Given the description of an element on the screen output the (x, y) to click on. 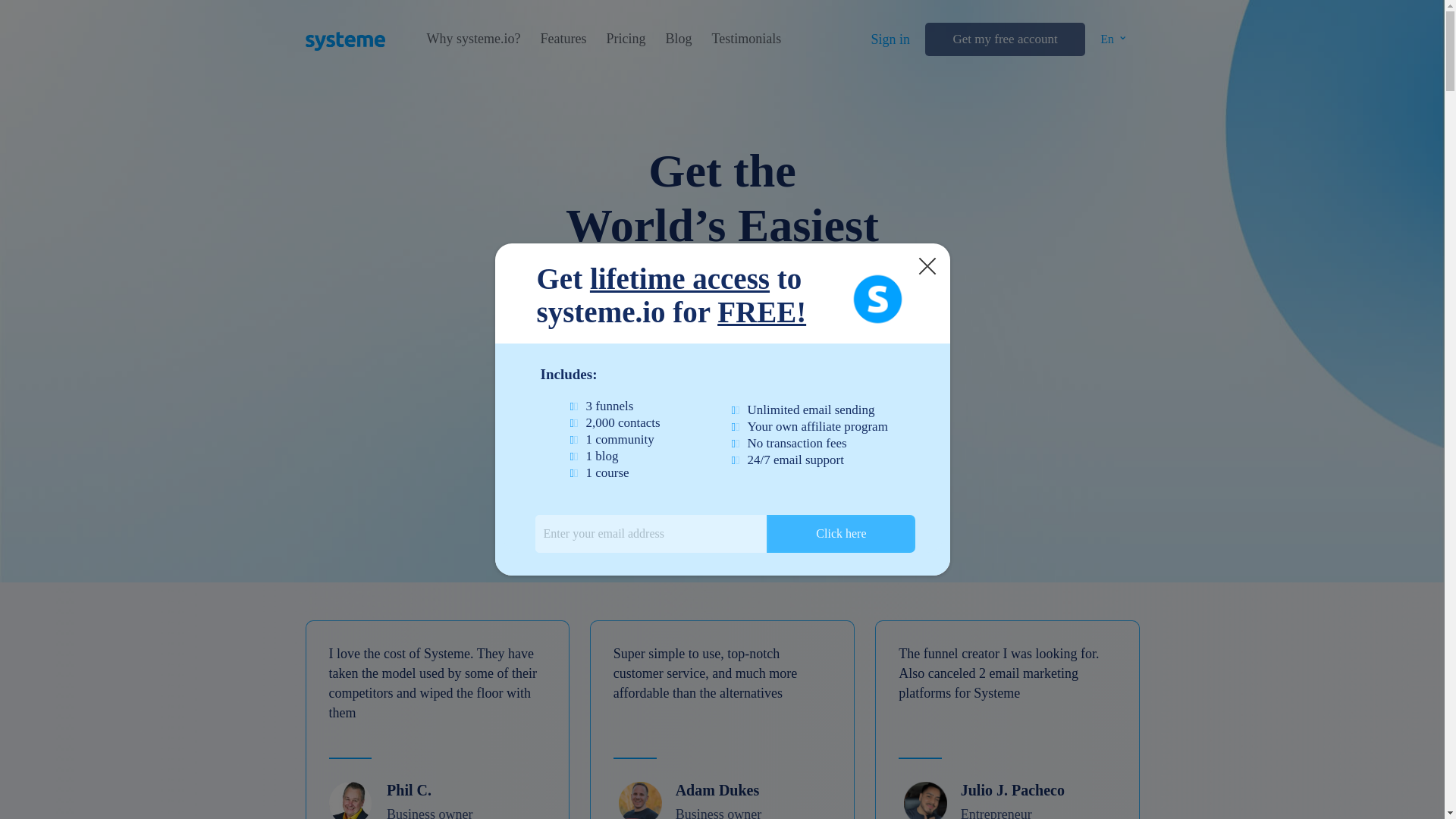
Pricing (625, 38)
Blog (678, 38)
Features (563, 38)
Get my free account (1004, 39)
Sign in (890, 39)
Why systeme.io? (472, 38)
Testimonials (745, 38)
